Given the description of an element on the screen output the (x, y) to click on. 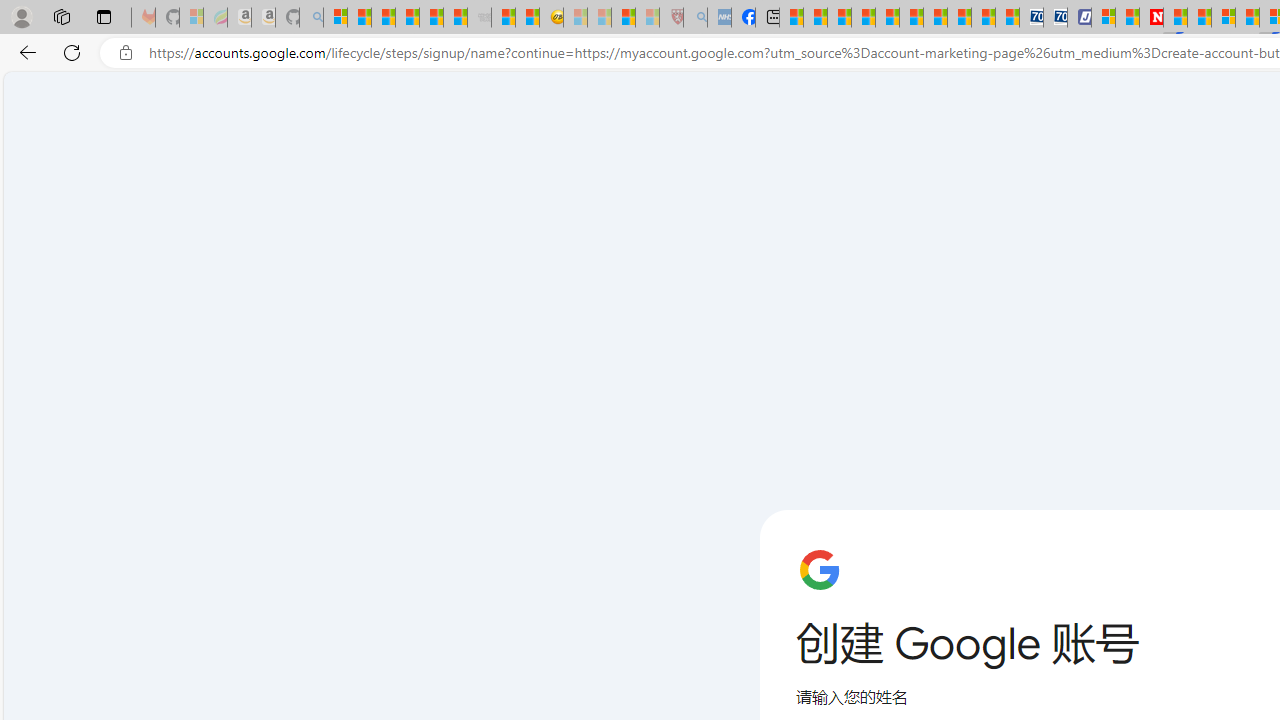
Robert H. Shmerling, MD - Harvard Health - Sleeping (671, 17)
12 Popular Science Lies that Must be Corrected - Sleeping (647, 17)
Trusted Community Engagement and Contributions | Guidelines (1174, 17)
New Report Confirms 2023 Was Record Hot | Watch (430, 17)
The Weather Channel - MSN (383, 17)
